Given the description of an element on the screen output the (x, y) to click on. 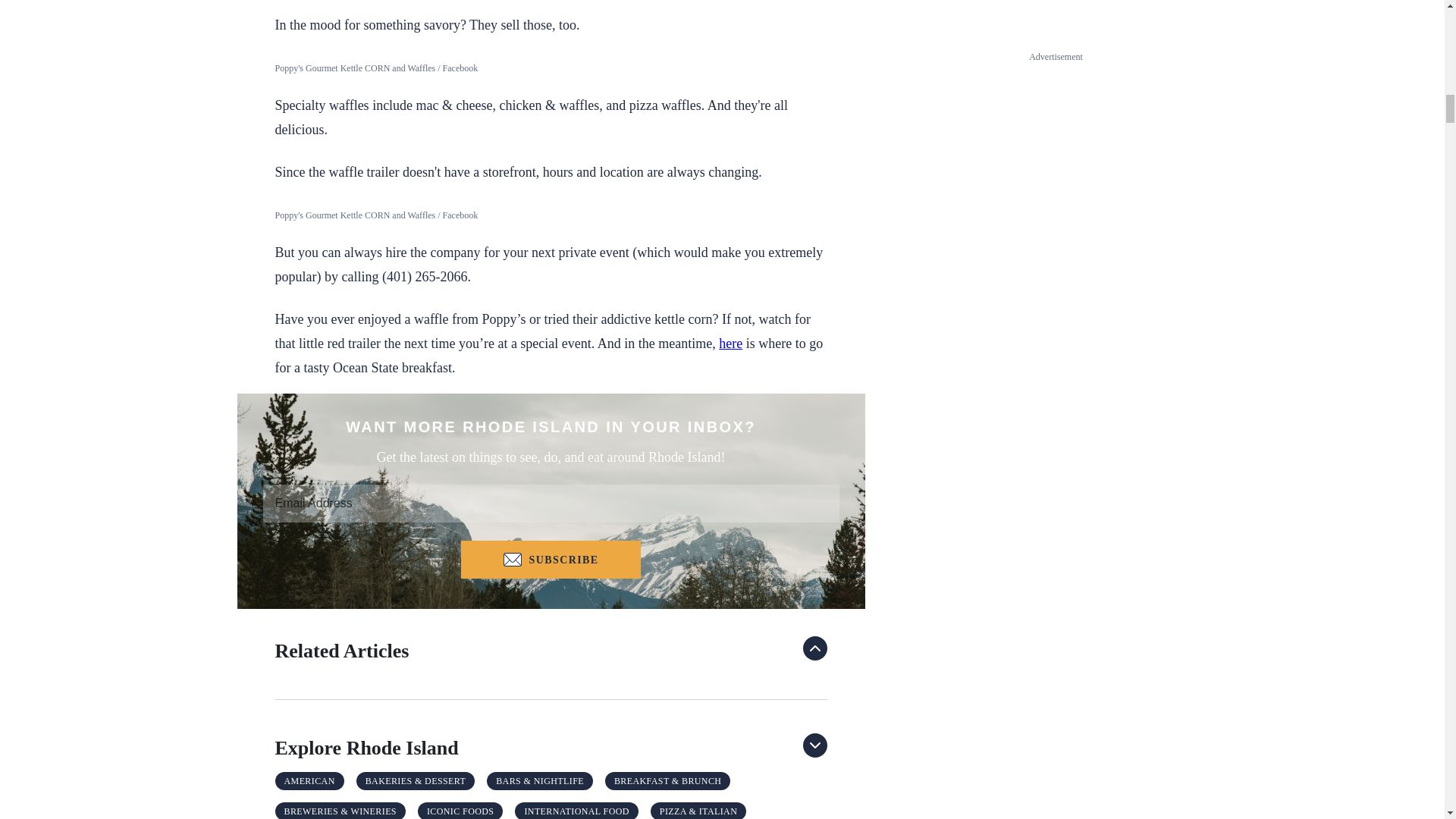
International Food (576, 810)
Iconic Foods (459, 810)
American (308, 781)
